Given the description of an element on the screen output the (x, y) to click on. 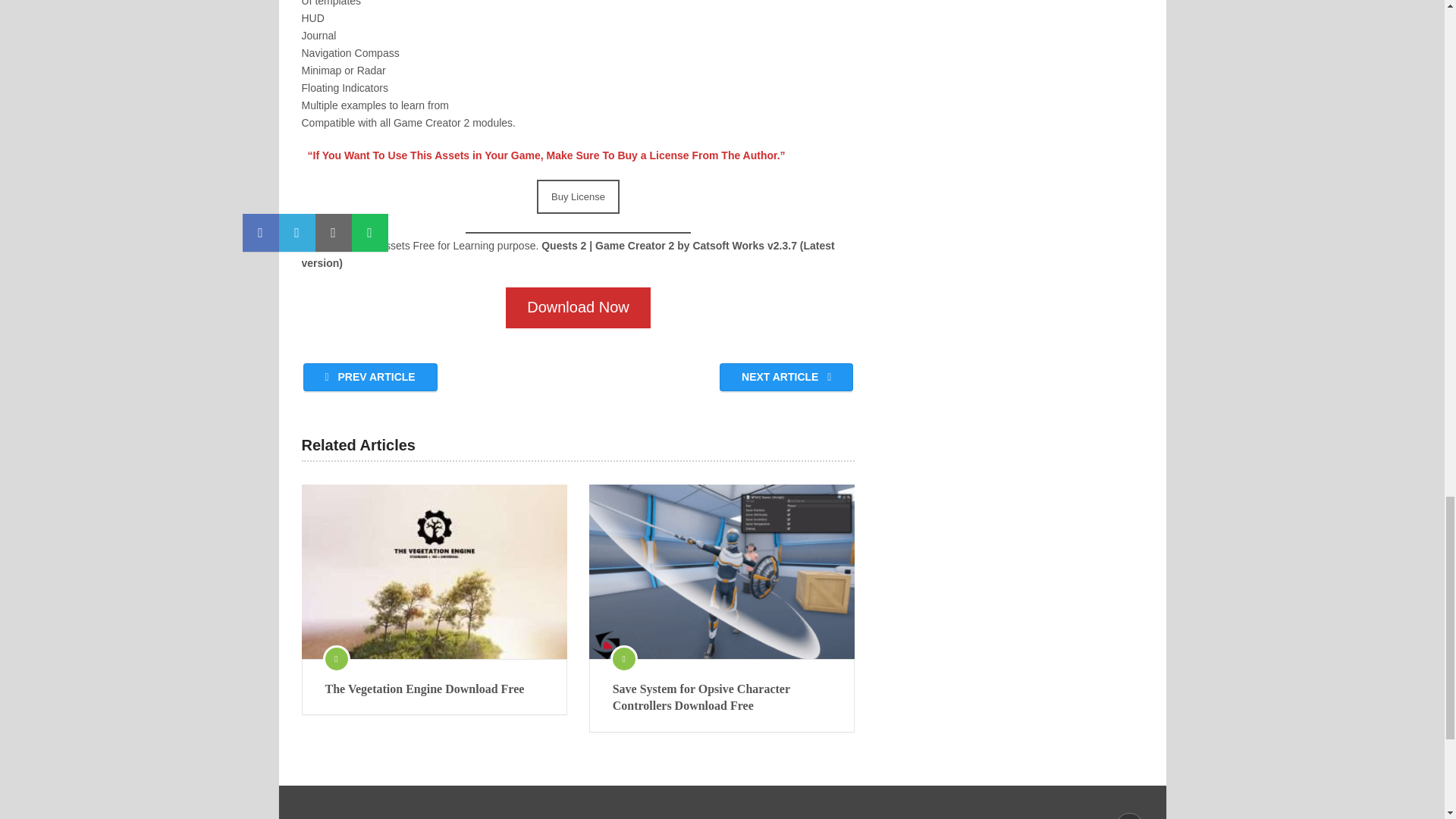
Save System for Opsive Character Controllers Download Free (721, 697)
The Vegetation Engine Download Free (433, 688)
The Vegetation Engine Download Free (434, 571)
Save System for Opsive Character Controllers Download Free (721, 571)
